Given the description of an element on the screen output the (x, y) to click on. 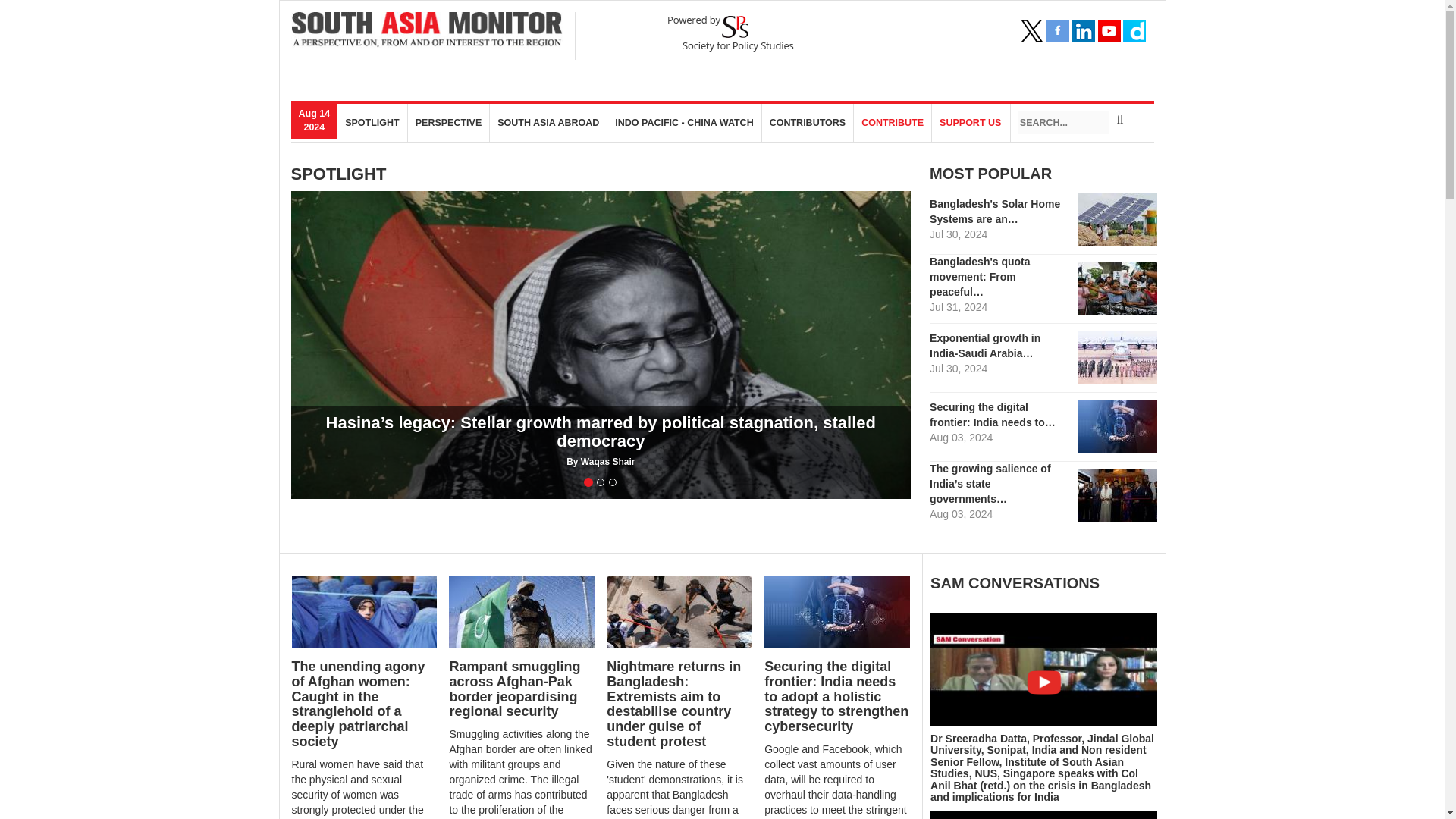
Representational Photo (837, 612)
Linkedin (1082, 30)
Facebook (1057, 30)
Twitter (1031, 30)
Home (427, 30)
Dailymotion (1133, 30)
SOUTH ASIA ABROAD (548, 122)
